Given the description of an element on the screen output the (x, y) to click on. 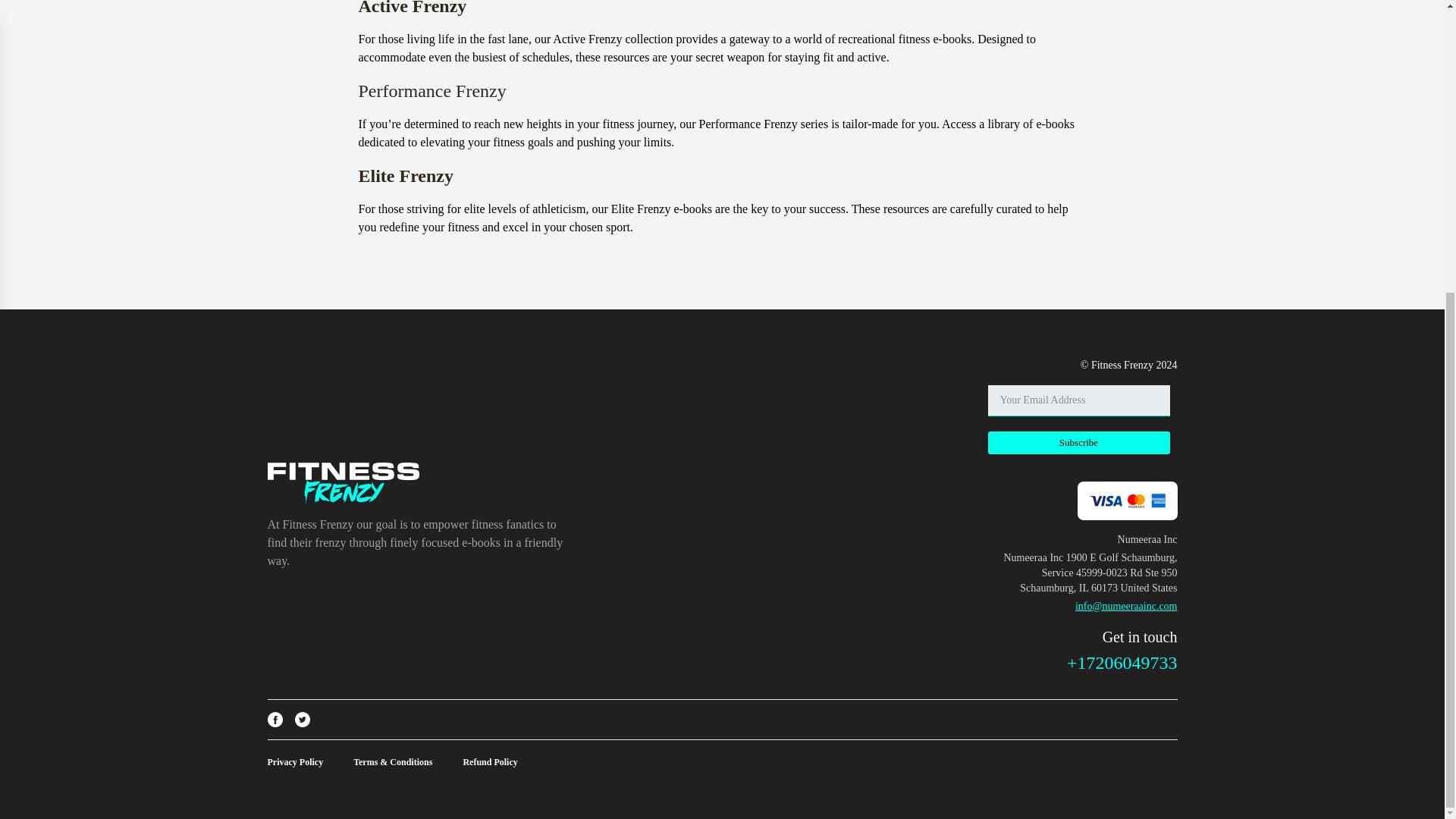
Refund Policy (489, 761)
Subscribe (1078, 442)
Privacy Policy (294, 761)
